Given the description of an element on the screen output the (x, y) to click on. 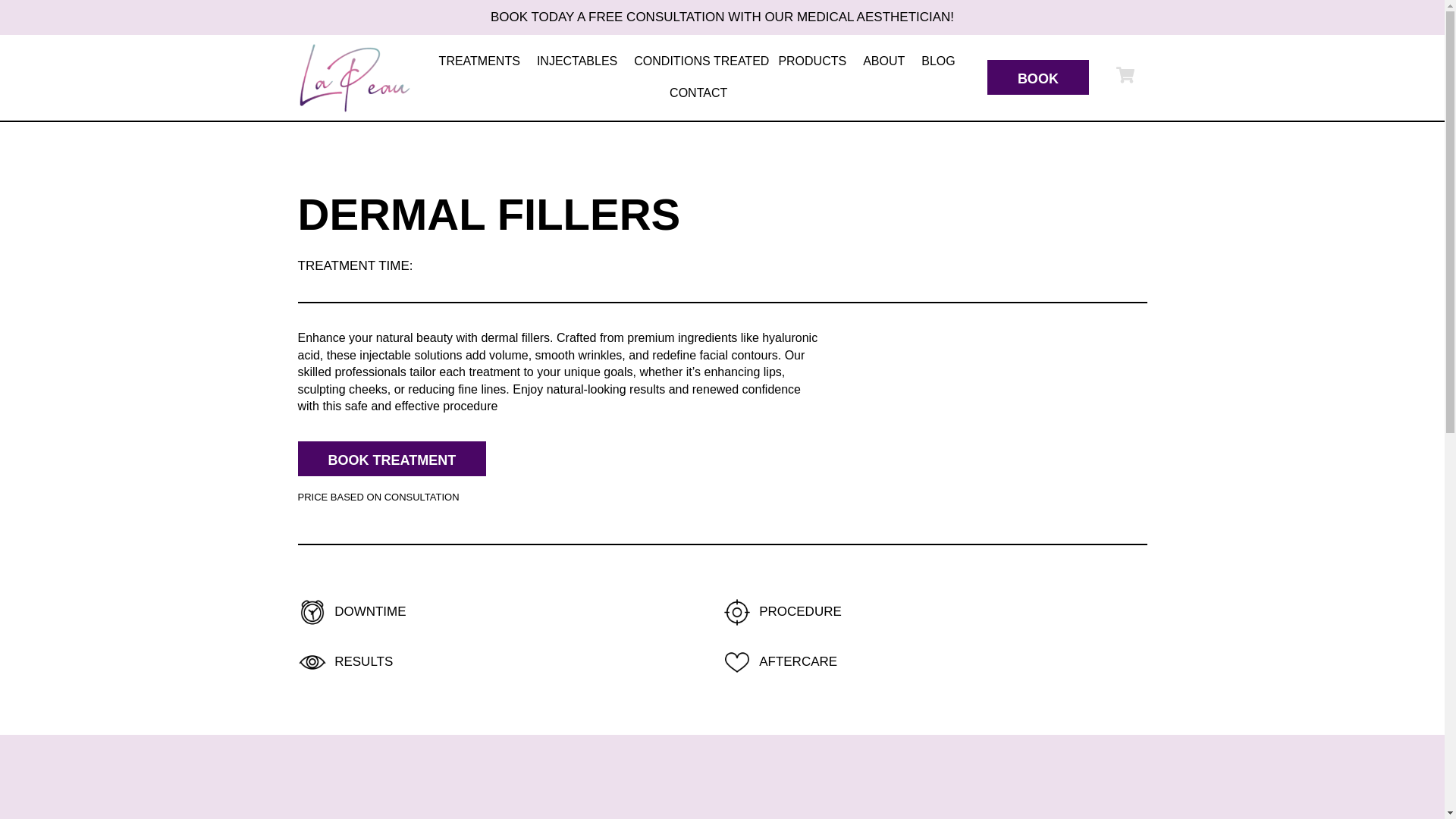
INJECTABLES (580, 60)
PRODUCTS (815, 60)
CONDITIONS TREATED (700, 60)
BLOG (938, 60)
TREATMENTS (483, 60)
ABOUT (887, 60)
CONTACT (698, 92)
